Given the description of an element on the screen output the (x, y) to click on. 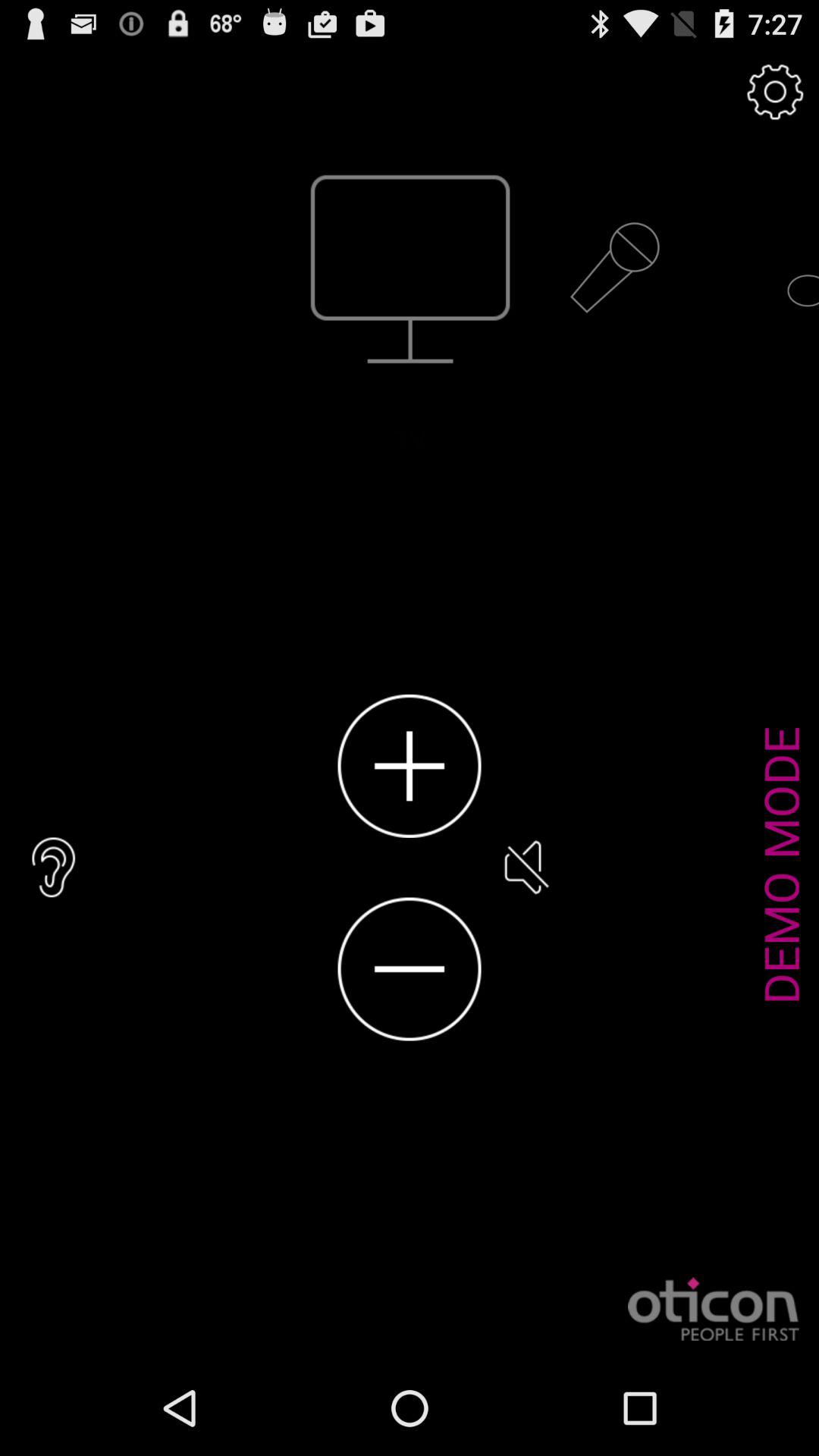
open icon next to demo mode (524, 867)
